Given the description of an element on the screen output the (x, y) to click on. 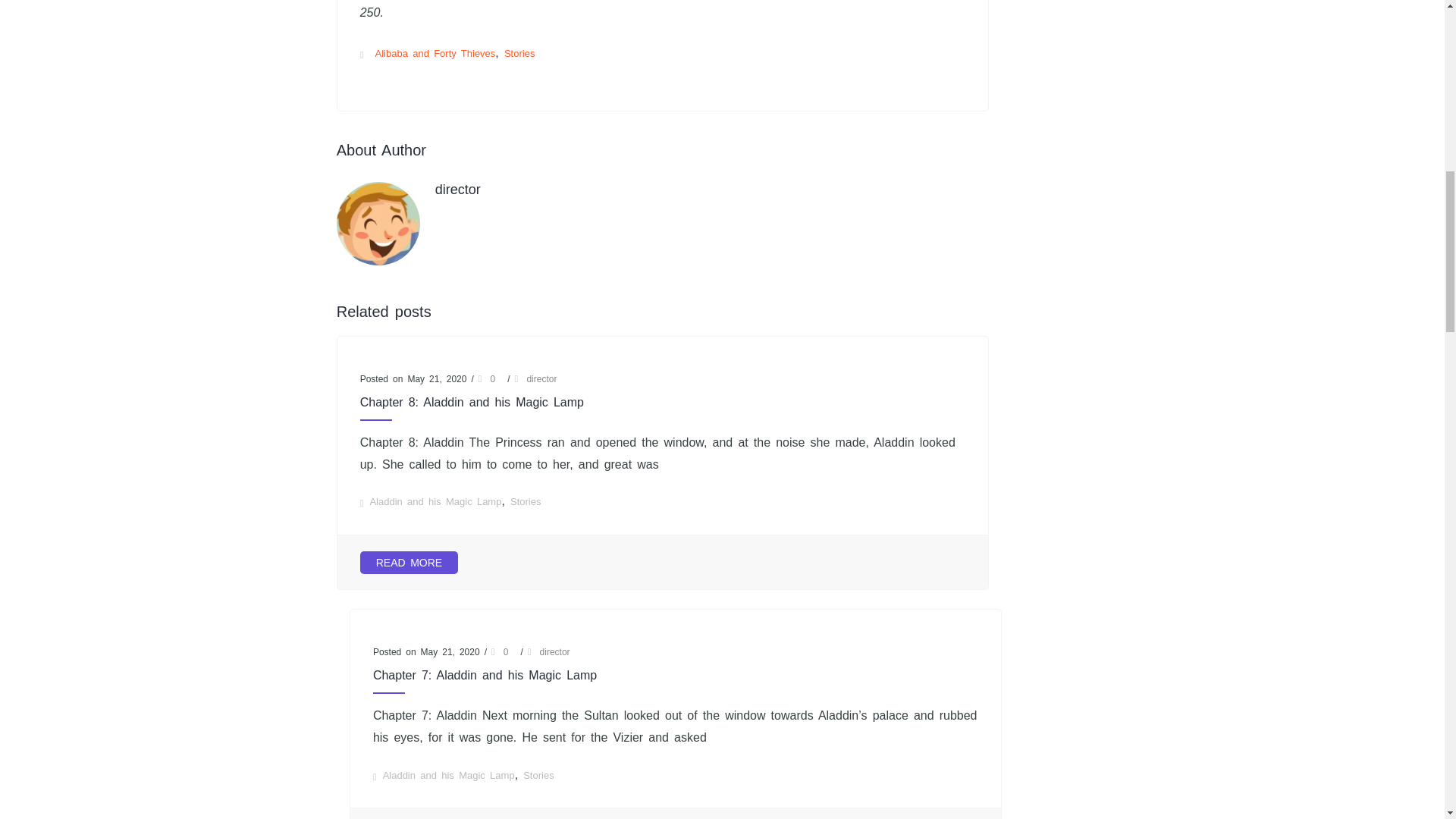
director (540, 378)
Stories (525, 501)
Stories (518, 52)
director (457, 189)
Chapter 8: Aladdin and his Magic Lamp (662, 402)
Alibaba and Forty Thieves (435, 52)
Aladdin and his Magic Lamp (434, 501)
